Given the description of an element on the screen output the (x, y) to click on. 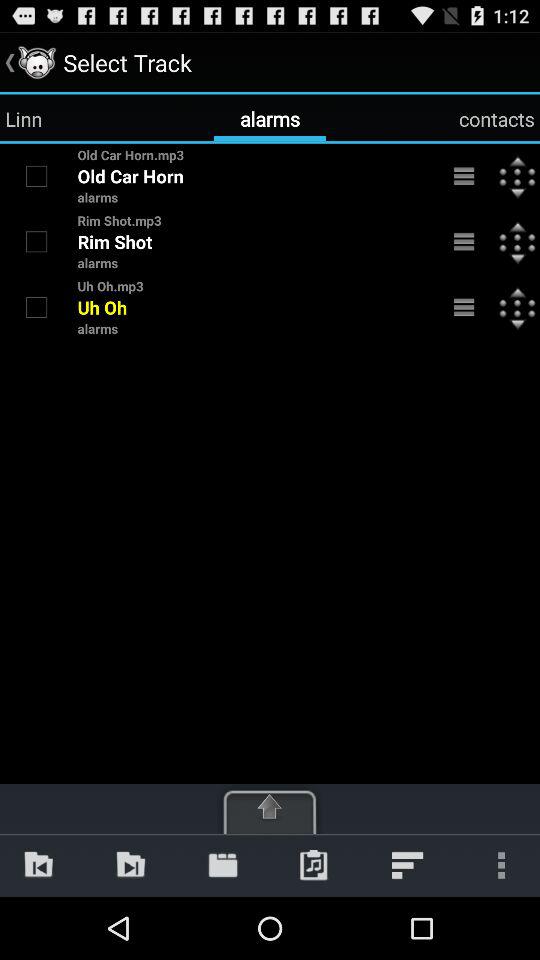
select the alarm tone (36, 307)
